Given the description of an element on the screen output the (x, y) to click on. 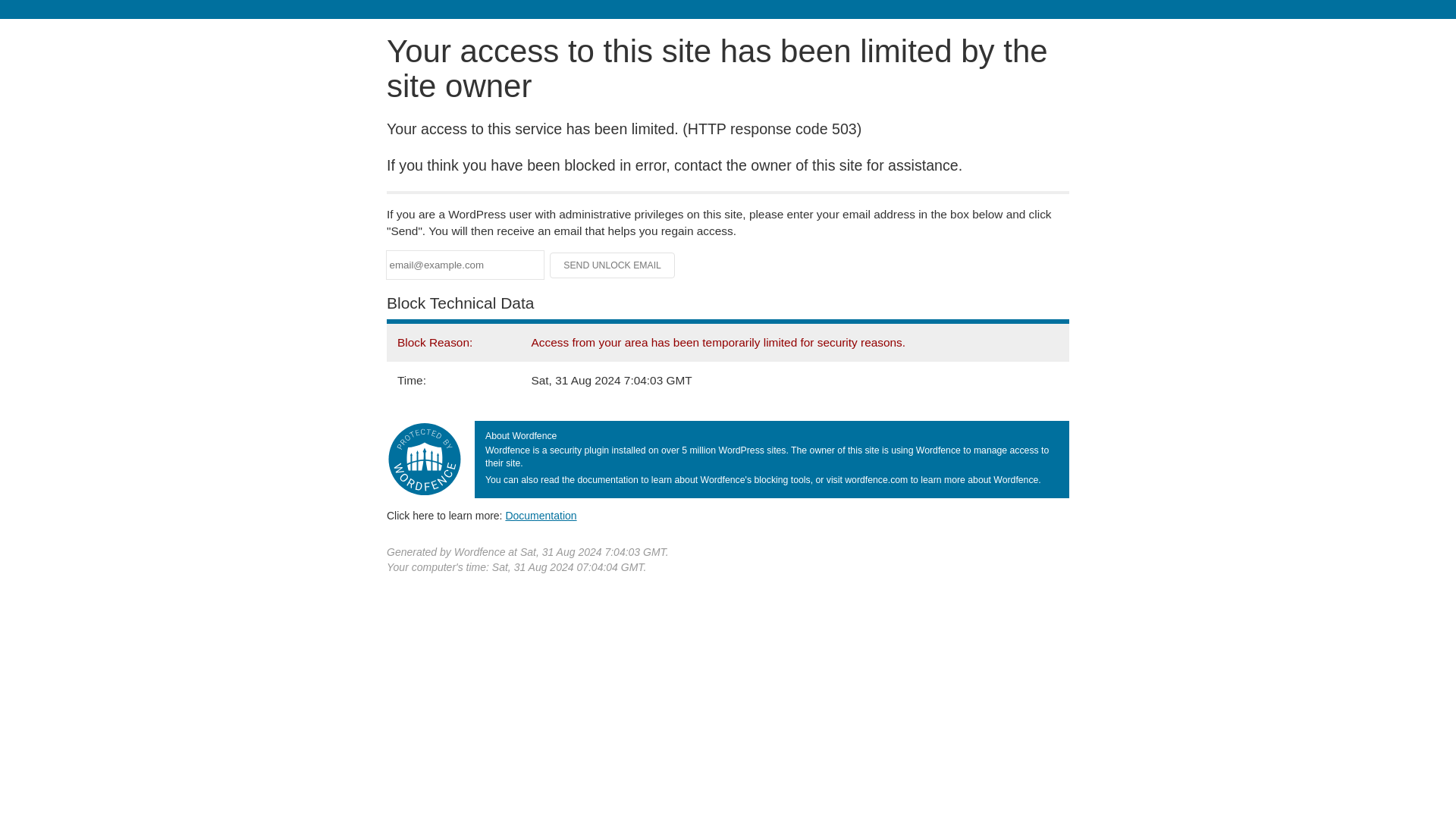
Send Unlock Email (612, 265)
Documentation (540, 515)
Send Unlock Email (612, 265)
